Given the description of an element on the screen output the (x, y) to click on. 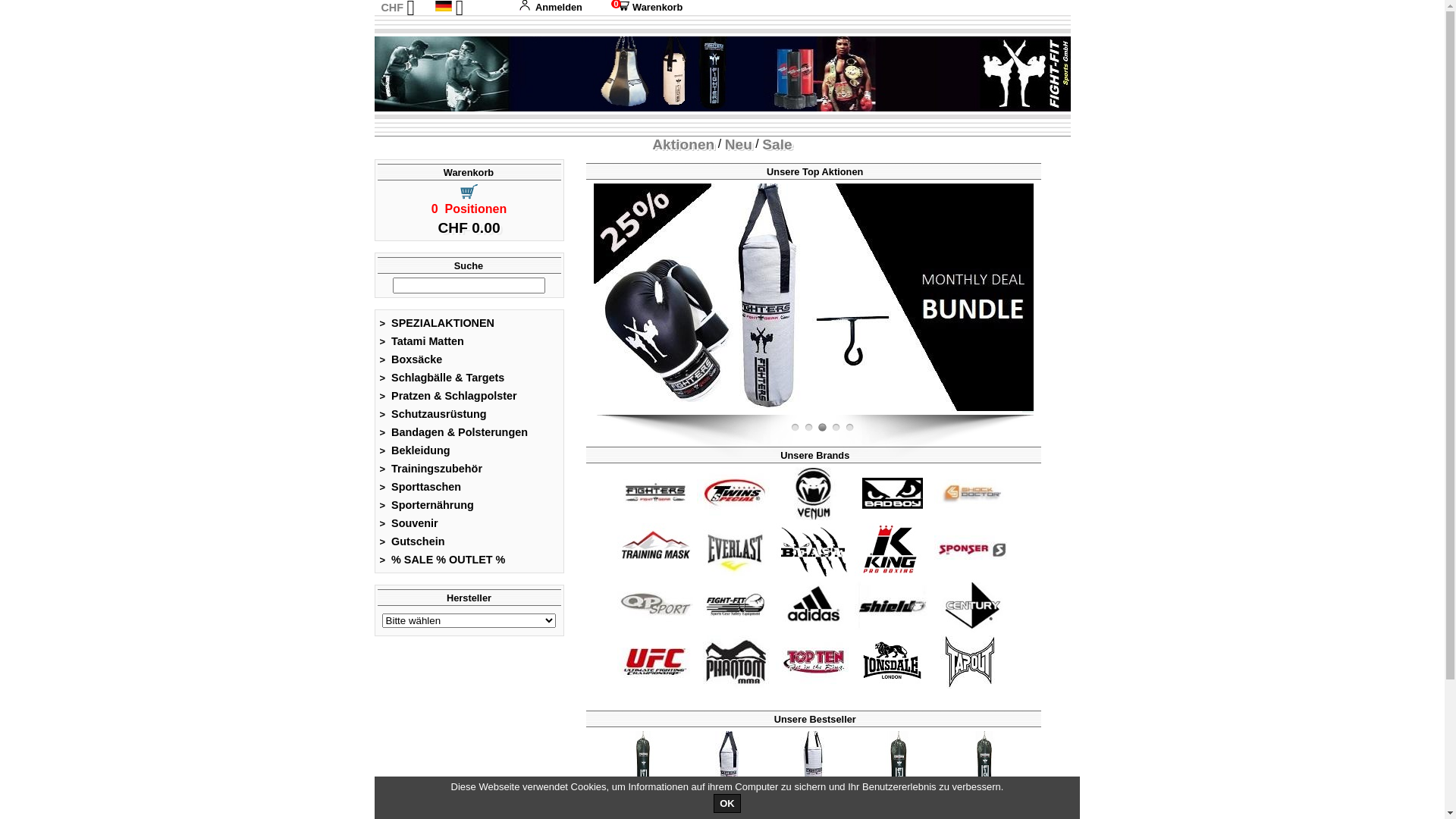
Besteller Element type: hover (984, 768)
>  Gutschein Element type: text (412, 541)
Anmelden Element type: text (550, 6)
USD Element type: text (390, 38)
>  Souvenir Element type: text (408, 523)
>  % SALE % OUTLET % Element type: text (442, 559)
Besteller Element type: hover (642, 768)
Sale Element type: text (776, 144)
Deutsch Element type: hover (443, 5)
English Element type: text (462, 22)
>  Bandagen & Polsterungen Element type: text (453, 432)
Warenkorb Element type: text (468, 172)
>  Tatami Matten Element type: text (421, 341)
>  SPEZIALAKTIONEN Element type: text (437, 322)
Besteller Element type: hover (727, 768)
1 Element type: text (835, 427)
Italiano Element type: text (462, 54)
 0  Warenkorb Element type: text (643, 6)
1 Element type: text (849, 427)
Besteller Element type: hover (898, 768)
1 Element type: text (822, 427)
CHF Element type: text (391, 7)
Fight-Fit.ch Element type: text (1029, 411)
1 Element type: text (794, 427)
Suche Element type: text (468, 265)
Boxsack Aktionsangebot - Starter Element type: hover (373, 297)
1 Element type: text (808, 427)
Boxsack Set - Kids (5 - 8 Jahre) Element type: hover (813, 297)
>  Sporttaschen Element type: text (420, 486)
EUR Element type: text (390, 22)
Neu Element type: text (738, 144)
>  Pratzen & Schlagpolster Element type: text (448, 395)
OK Element type: text (726, 802)
Besteller Element type: hover (813, 768)
>  Bekleidung Element type: text (414, 450)
Aktionen Element type: text (683, 144)
